Given the description of an element on the screen output the (x, y) to click on. 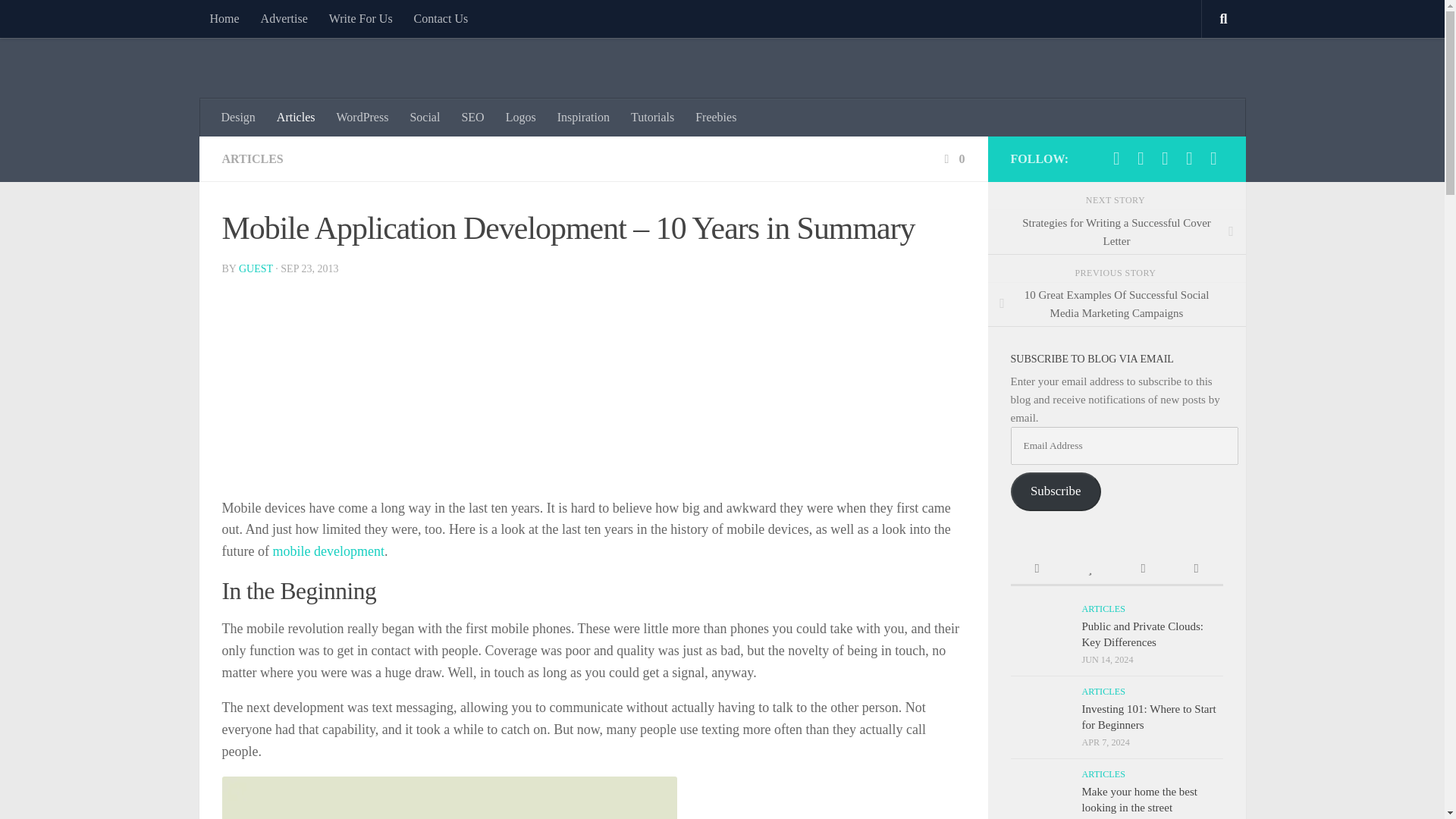
Skip to content (59, 20)
Contact Us (441, 18)
WordPress (361, 117)
Logos (521, 117)
mobile development (328, 550)
Inspiration (583, 117)
ARTICLES (251, 158)
Advertise (284, 18)
SEO (472, 117)
Social (423, 117)
Design (238, 117)
Home (223, 18)
Articles (296, 117)
Posts by guest (255, 268)
Freebies (715, 117)
